Given the description of an element on the screen output the (x, y) to click on. 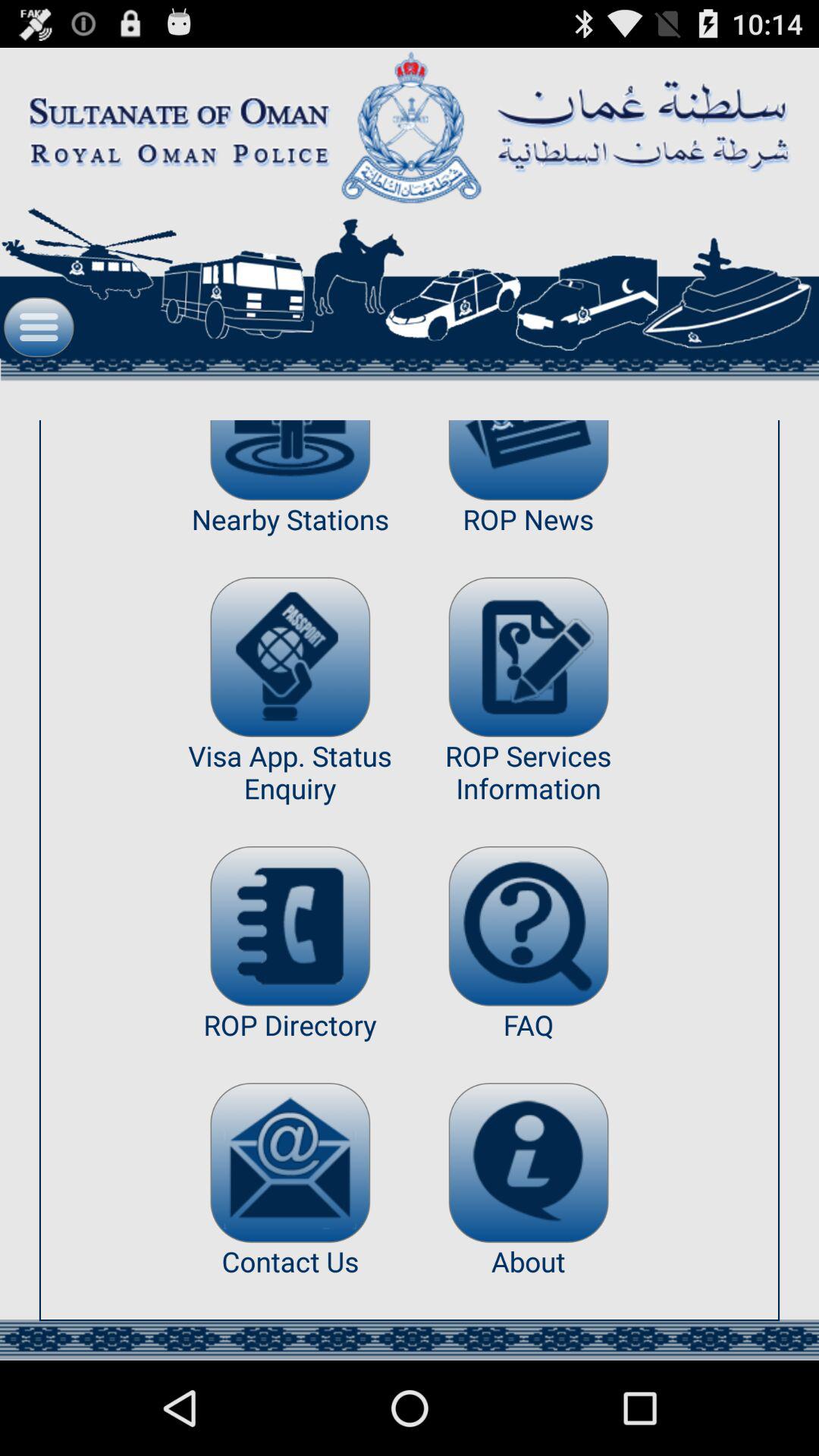
turn off item next to rop news item (290, 460)
